Given the description of an element on the screen output the (x, y) to click on. 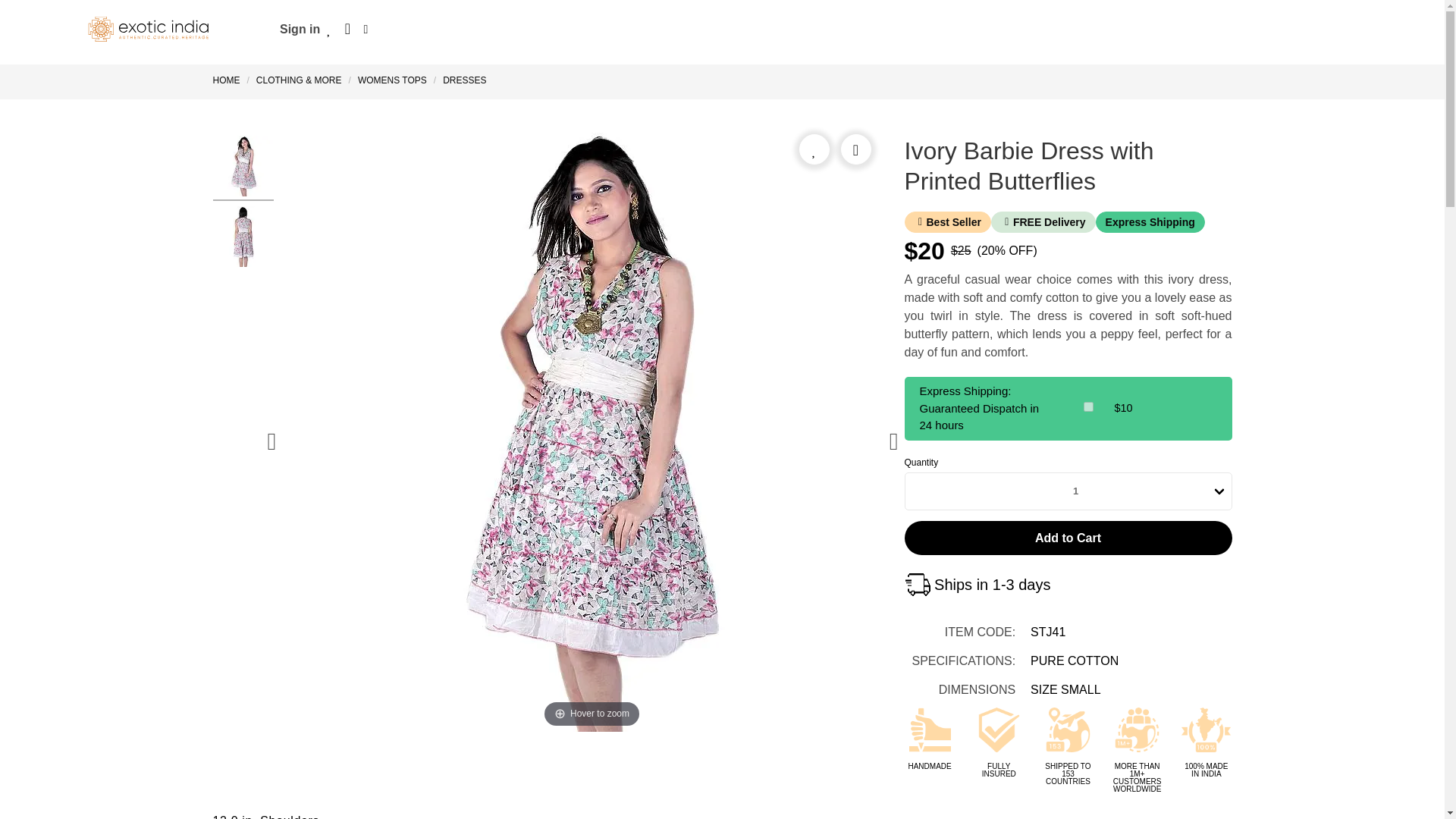
Sign in (299, 29)
Add to Cart (1067, 537)
Womens Tops (391, 79)
Sign in (299, 29)
HOME (229, 79)
Dresses (464, 79)
DRESSES (464, 79)
Save to Wishlist (814, 149)
WOMENS TOPS (391, 79)
